Given the description of an element on the screen output the (x, y) to click on. 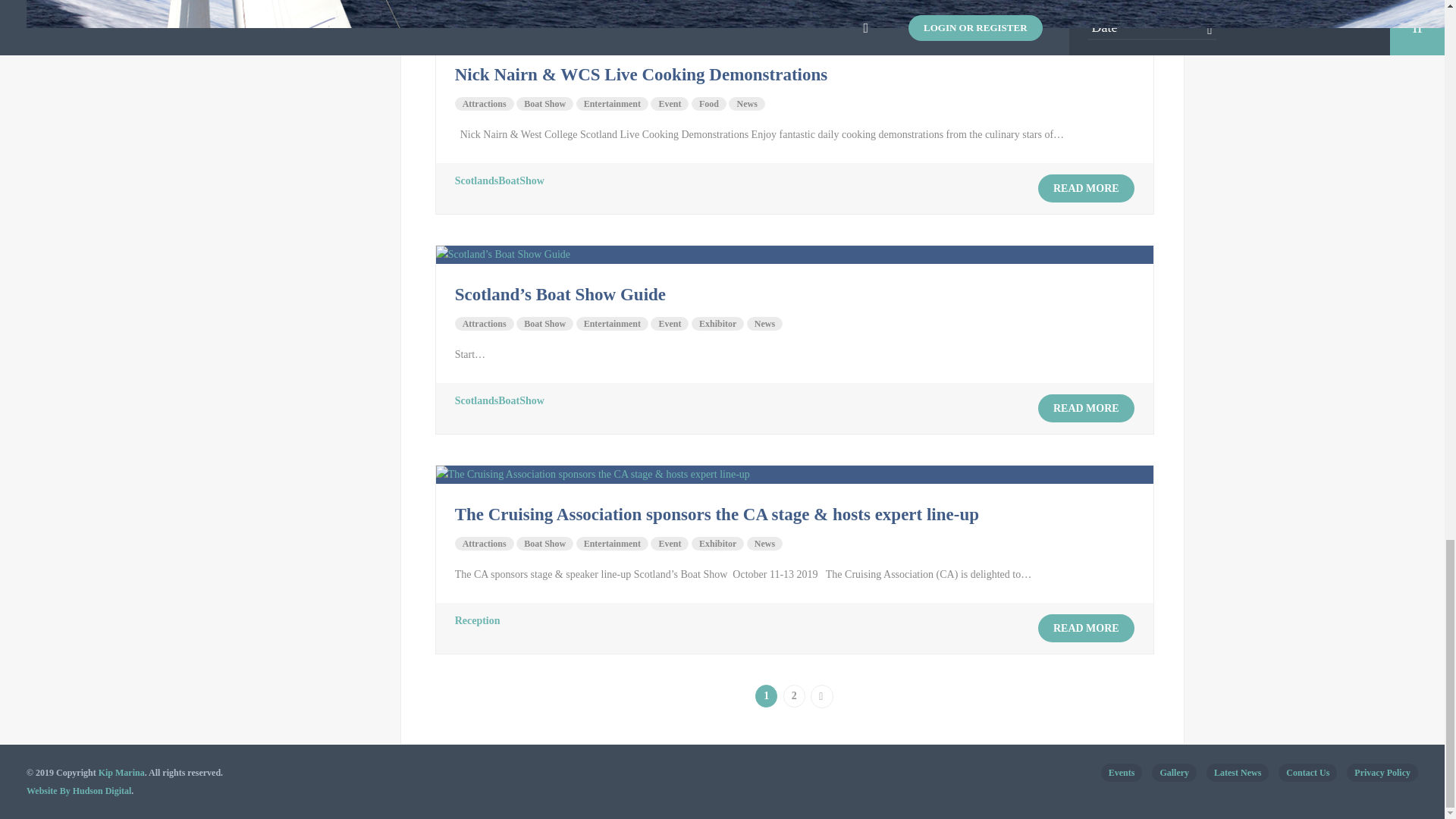
View all posts by Reception (477, 620)
View all posts by ScotlandsBoatShow (499, 400)
View all posts by ScotlandsBoatShow (499, 180)
